Given the description of an element on the screen output the (x, y) to click on. 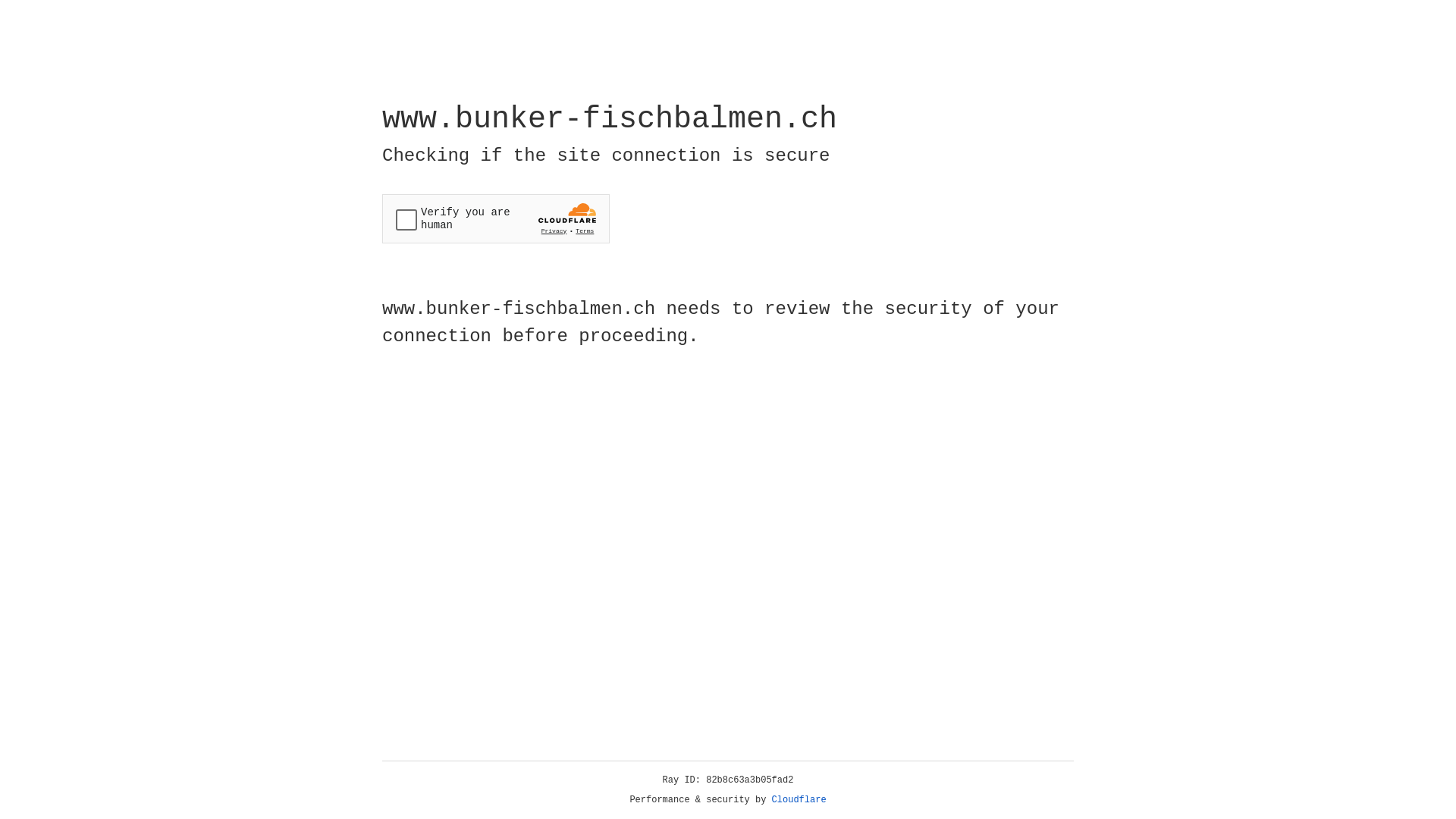
Widget containing a Cloudflare security challenge Element type: hover (495, 218)
Cloudflare Element type: text (798, 799)
